Given the description of an element on the screen output the (x, y) to click on. 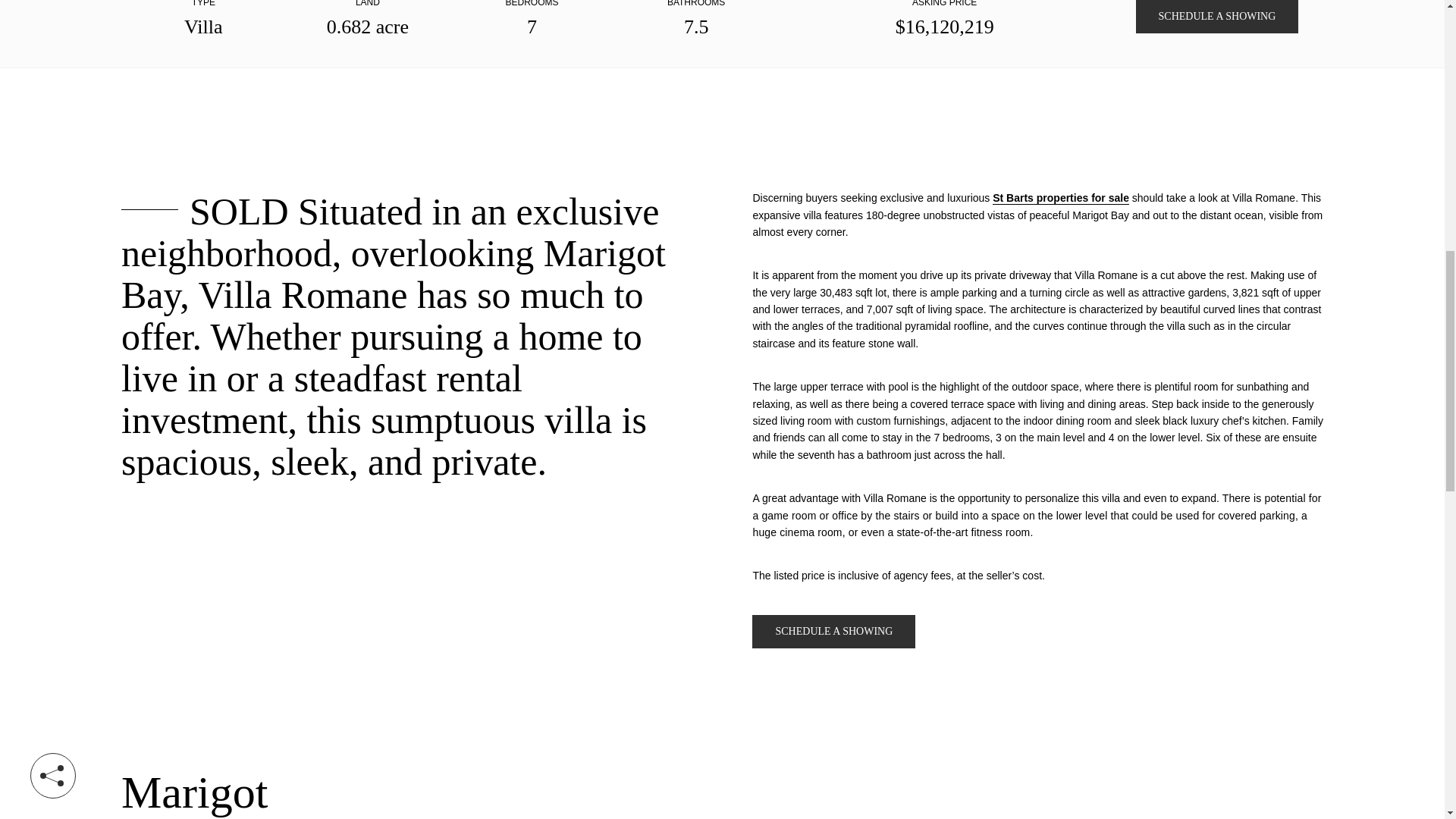
SCHEDULE A SHOWING (833, 631)
SCHEDULE A SHOWING (1216, 16)
St Barts properties for sale (1060, 197)
